Given the description of an element on the screen output the (x, y) to click on. 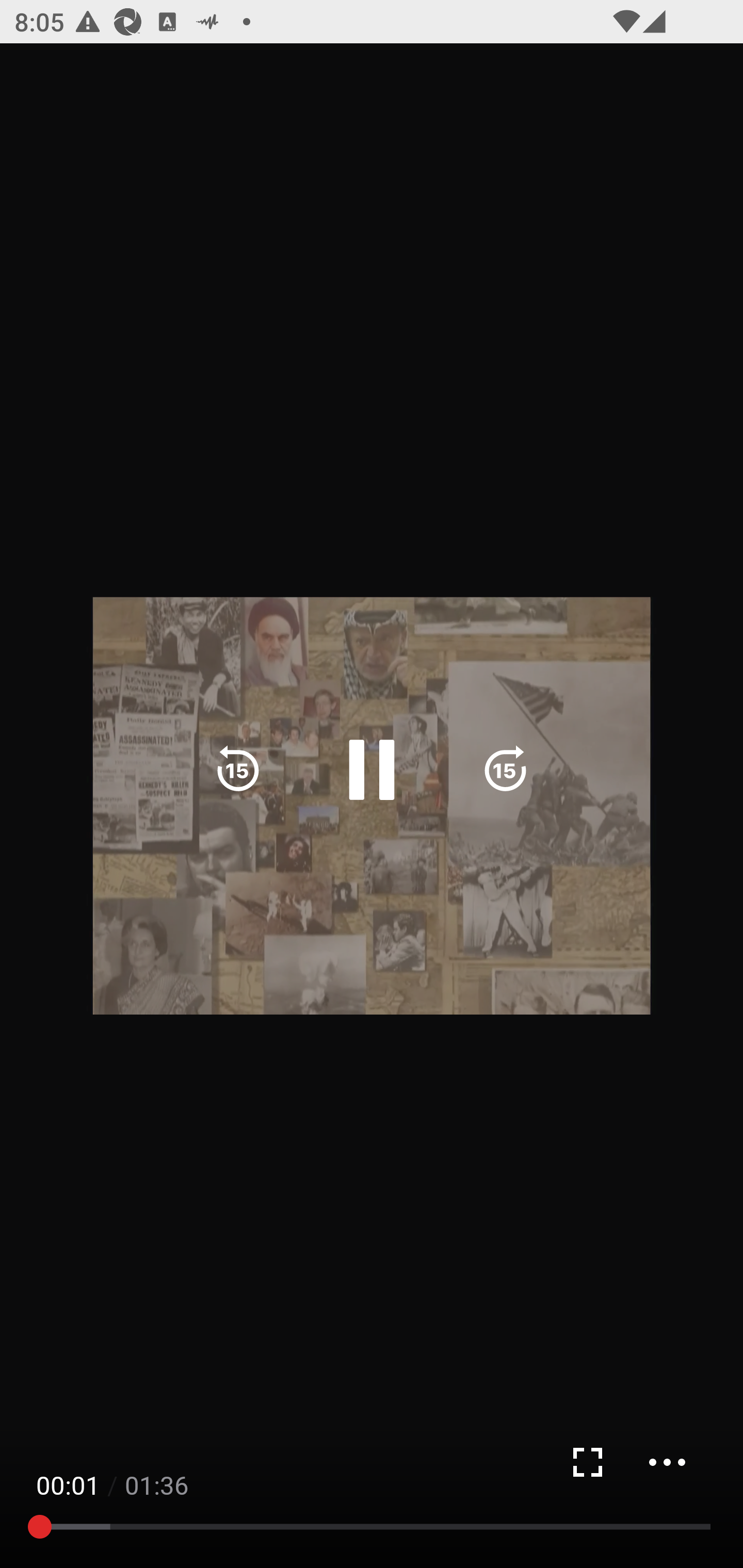
Rewind 15 seconds (238, 769)
Pause (371, 769)
fast forward 15 seconds (504, 769)
Fullscreen (587, 1462)
menu (666, 1462)
